Given the description of an element on the screen output the (x, y) to click on. 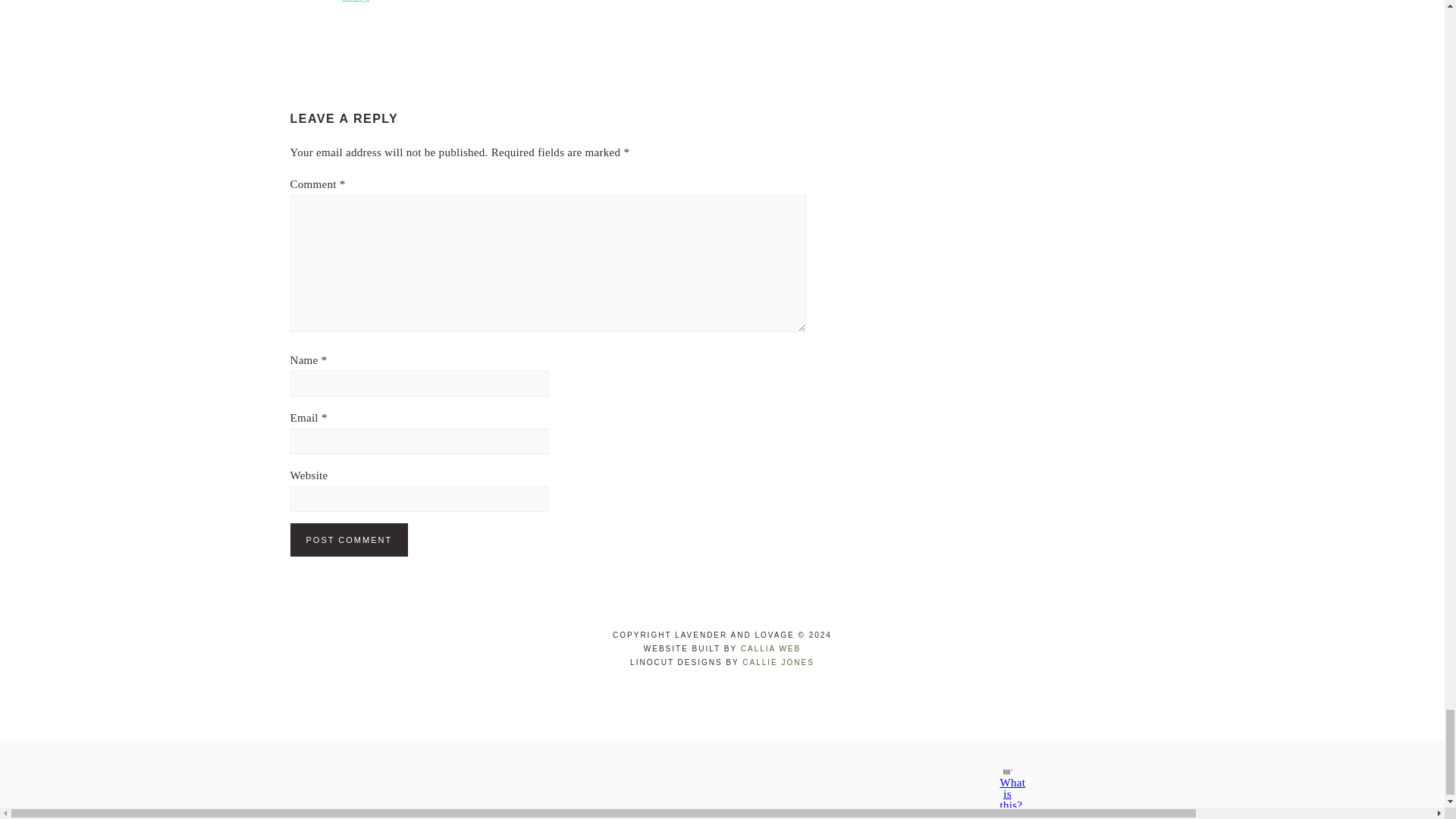
Post Comment (348, 539)
